Given the description of an element on the screen output the (x, y) to click on. 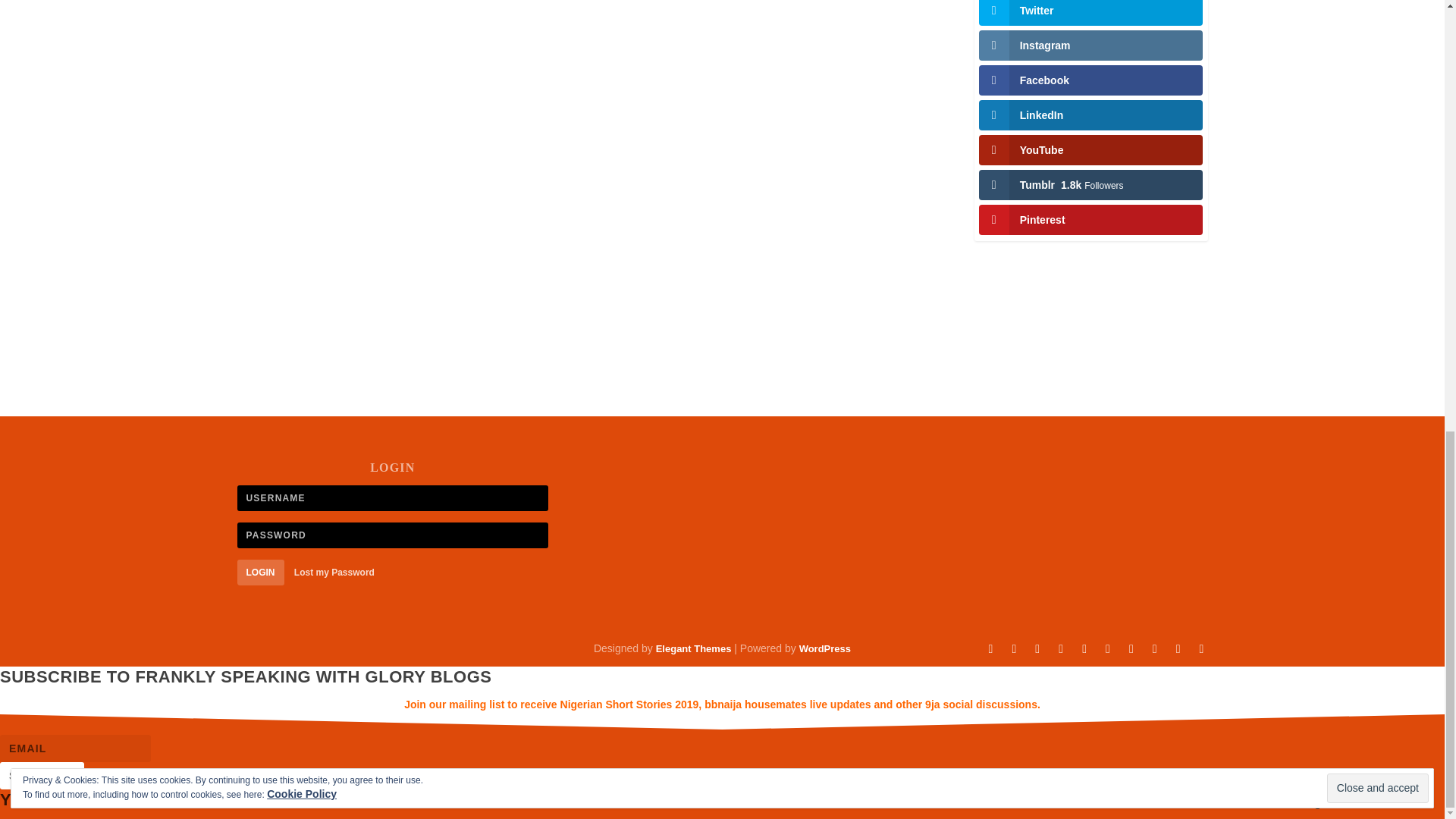
Premium WordPress Themes (694, 648)
